Given the description of an element on the screen output the (x, y) to click on. 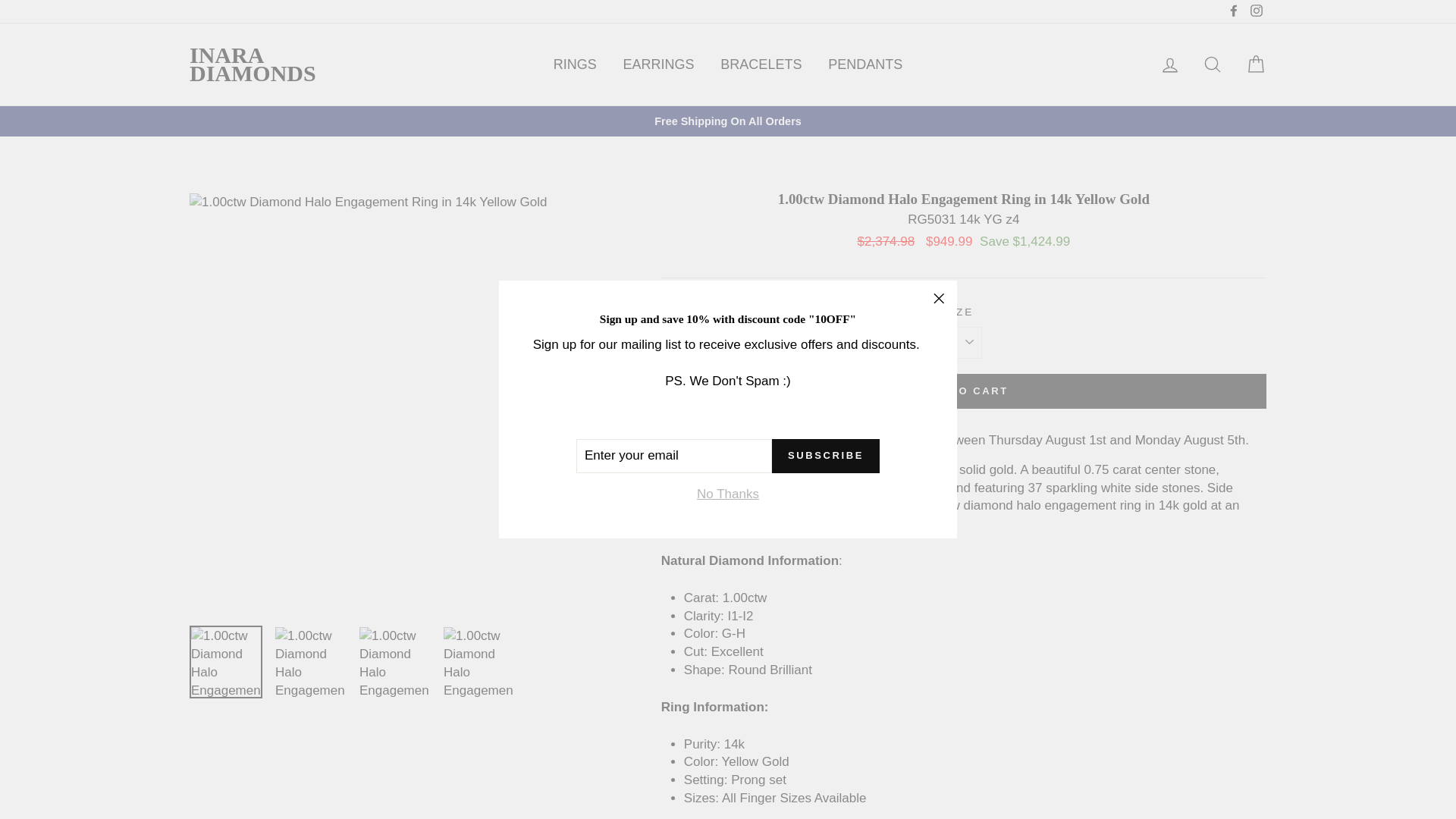
EARRINGS (658, 64)
ADD TO CART (963, 390)
INARA DIAMONDS (252, 63)
RINGS (574, 64)
BRACELETS (760, 64)
Cart (1255, 64)
PENDANTS (865, 64)
